Given the description of an element on the screen output the (x, y) to click on. 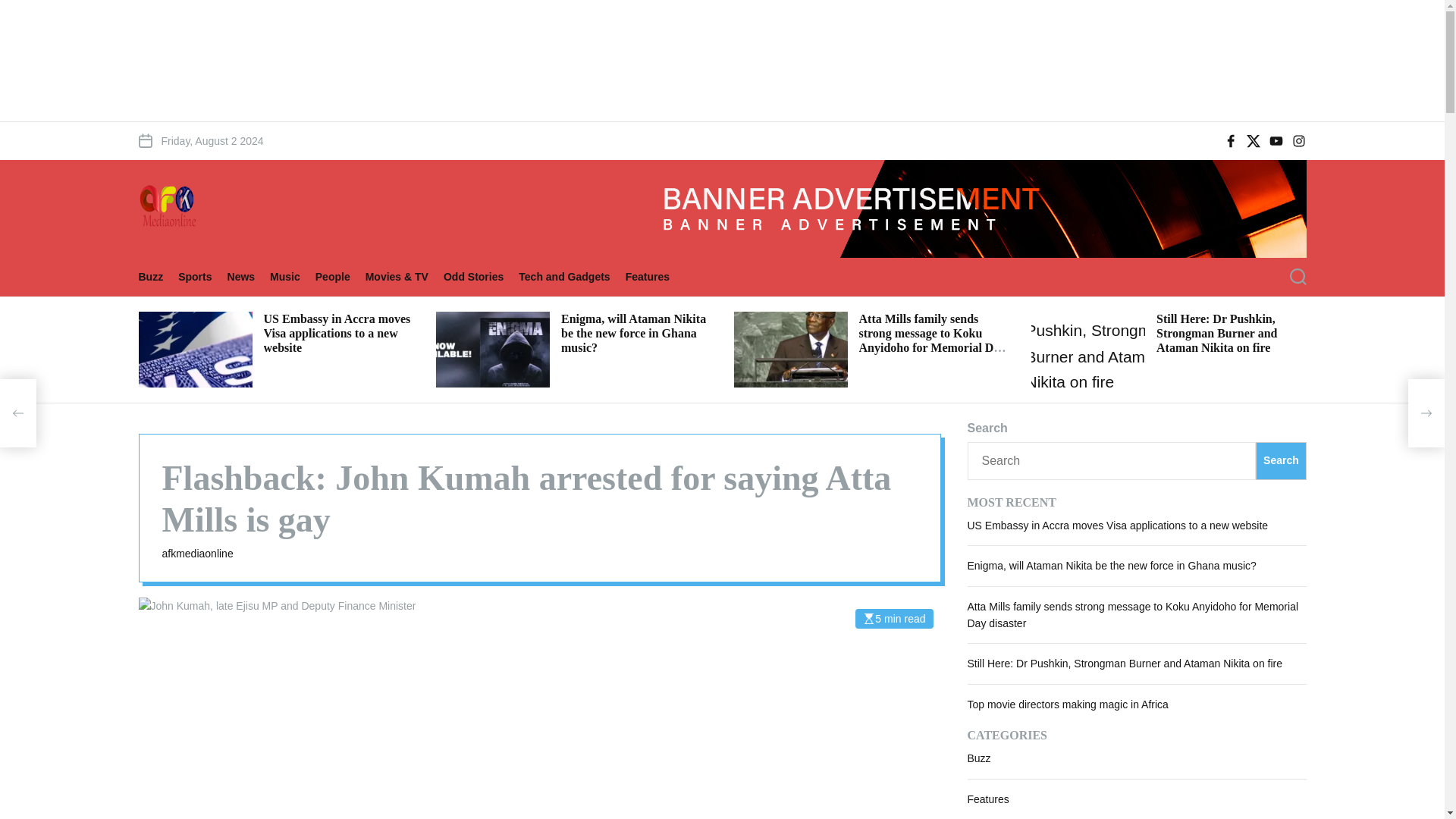
Youtube (1275, 140)
Instagram (1298, 140)
Facebook (1230, 140)
US Embassy in Accra moves Visa applications to a new website (336, 332)
Buzz (157, 276)
News (248, 276)
Twitter (1252, 140)
Music (292, 276)
Tech and Gadgets (571, 276)
Features (655, 276)
Odd Stories (481, 276)
People (340, 276)
Sports (202, 276)
